Given the description of an element on the screen output the (x, y) to click on. 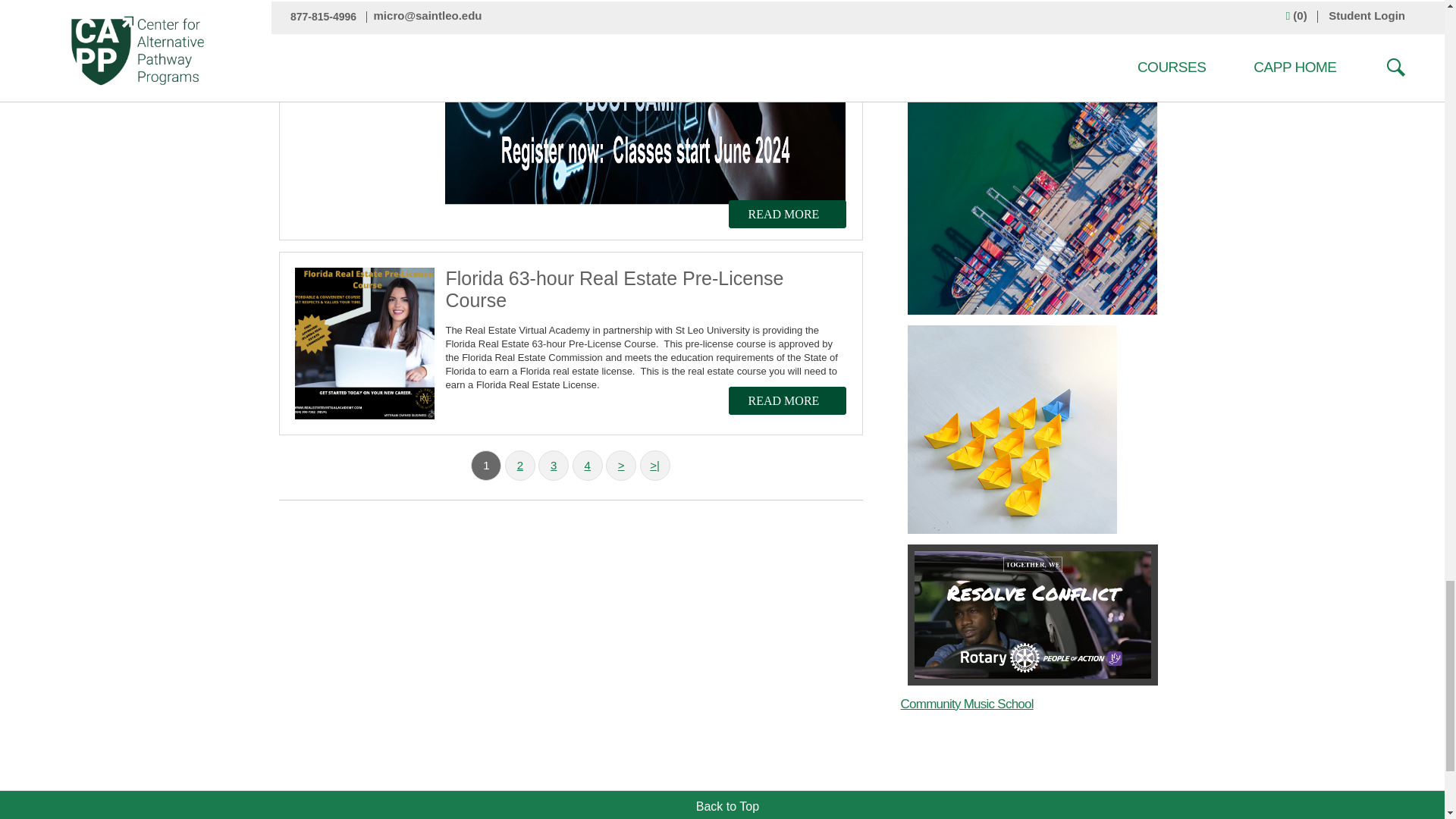
Go to top (721, 806)
CybersecurityBootcampbanner (645, 102)
